Given the description of an element on the screen output the (x, y) to click on. 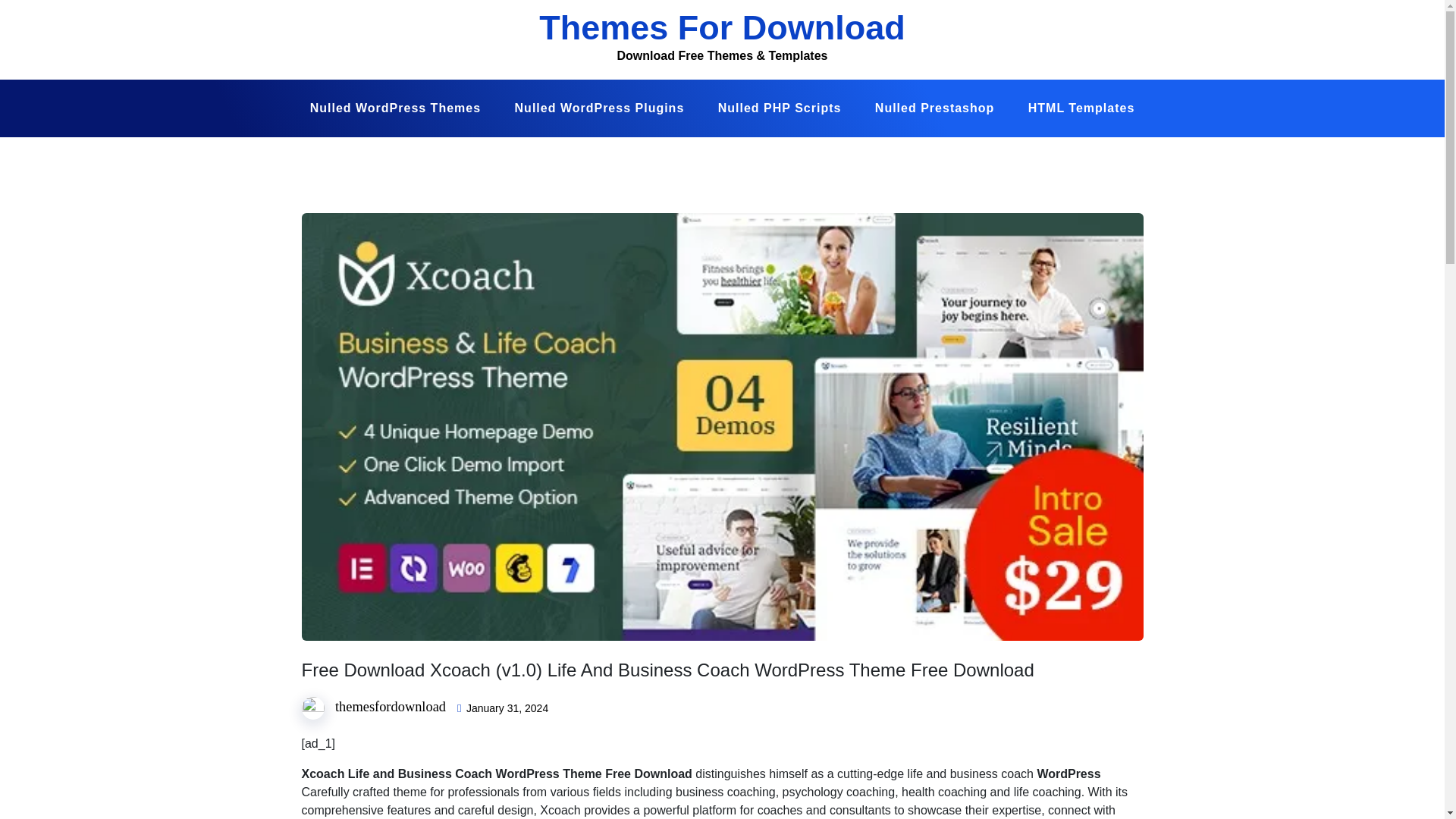
Nulled PHP Scripts (780, 107)
HTML Templates (1081, 107)
Nulled WordPress Plugins (599, 107)
Nulled Prestashop (934, 107)
themesfordownload (389, 706)
Nulled WordPress Themes (395, 107)
January 31, 2024 (506, 708)
Themes For Download (721, 27)
Themes For Download (721, 27)
